Given the description of an element on the screen output the (x, y) to click on. 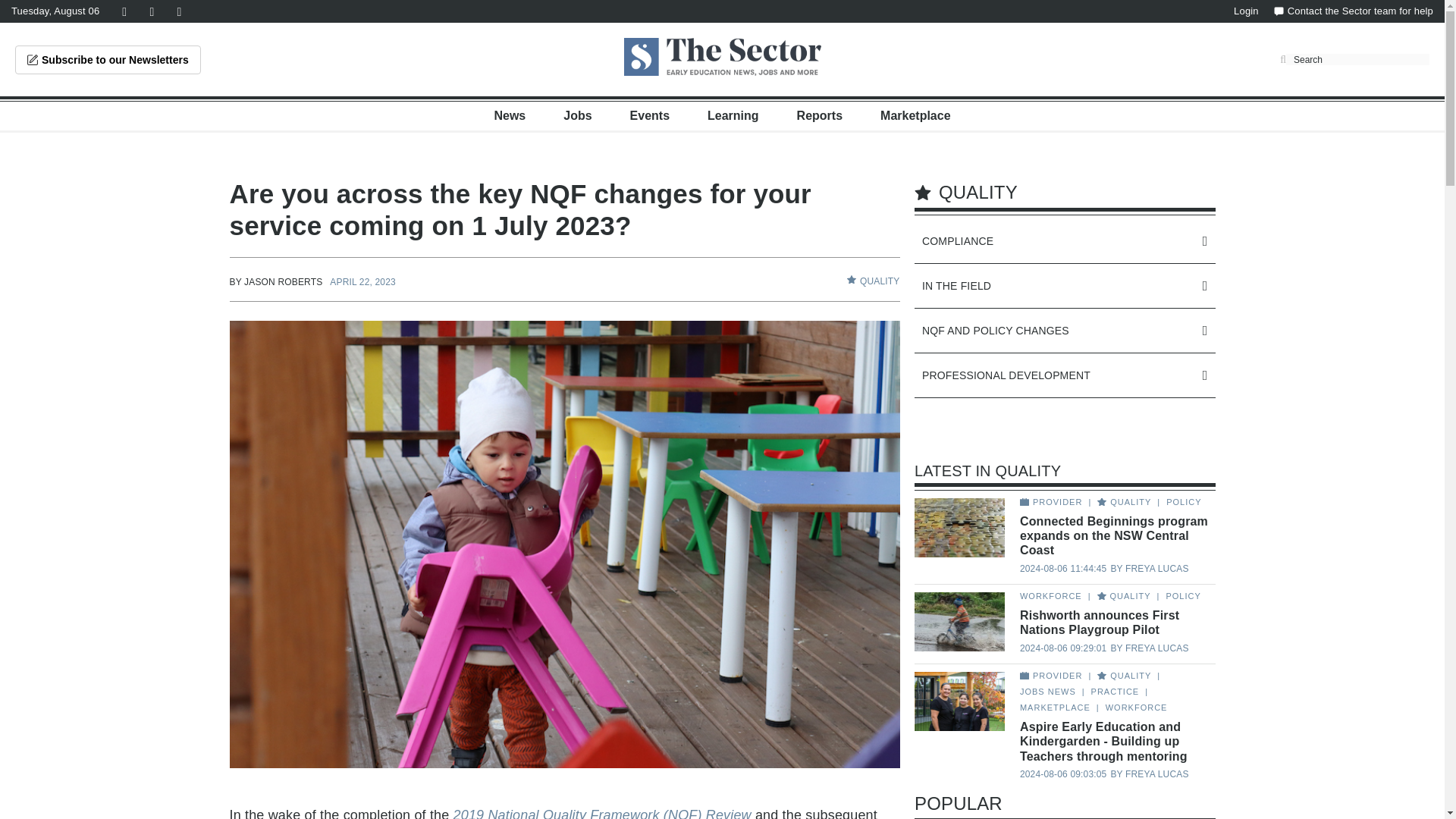
Jobs (577, 115)
Events (649, 115)
SHAPE COPY 5 CREATED WITH SKETCH. QUALITY (873, 280)
News (509, 115)
Login (1246, 11)
Marketplace (915, 115)
Learning (732, 115)
Subscribe to our Newsletters (107, 59)
Contact the Sector team for help (1353, 11)
SHAPE COPY 5 CREATED WITH SKETCH. (851, 279)
